Given the description of an element on the screen output the (x, y) to click on. 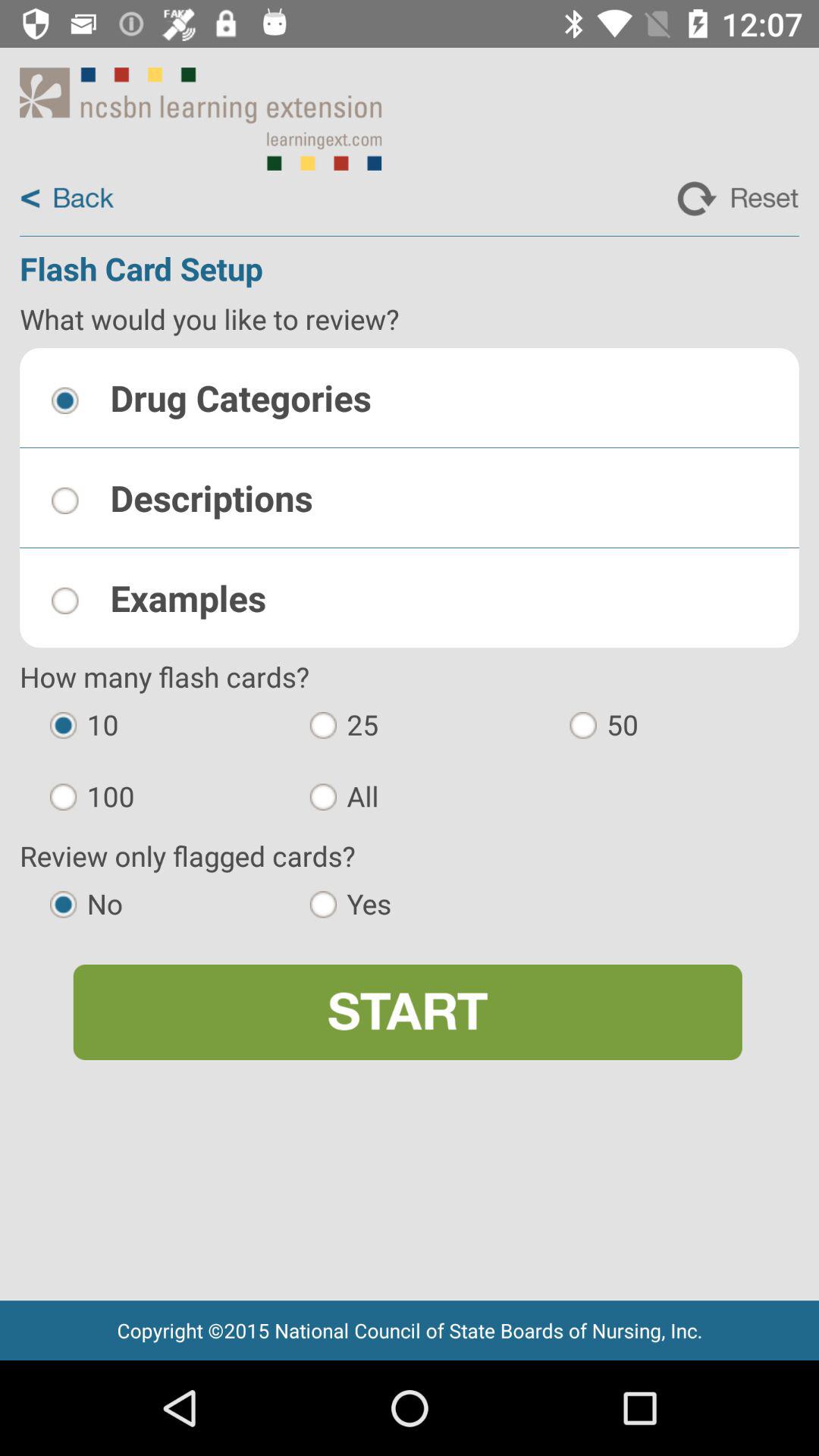
go back (66, 198)
